Given the description of an element on the screen output the (x, y) to click on. 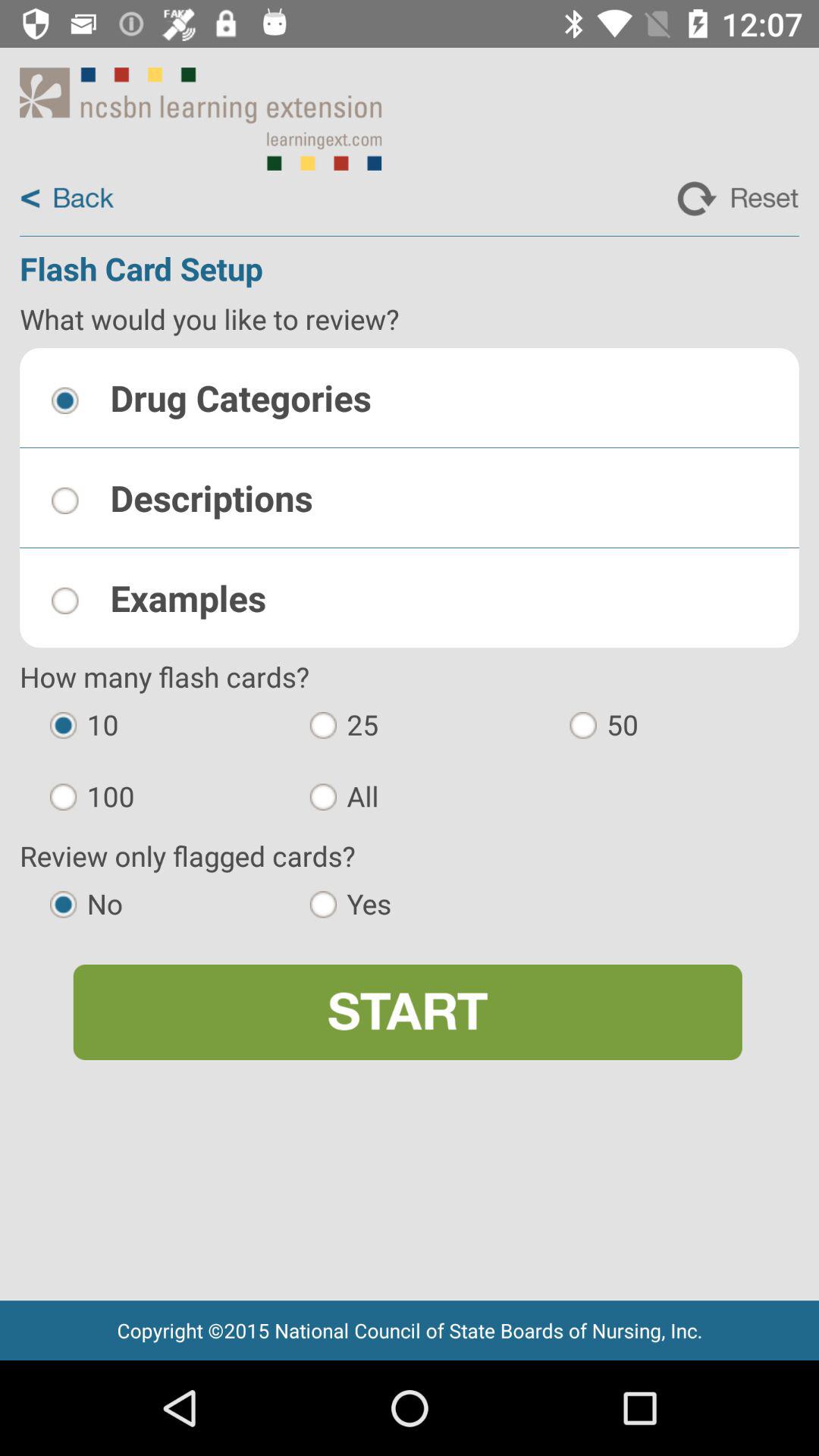
go back (66, 198)
